Given the description of an element on the screen output the (x, y) to click on. 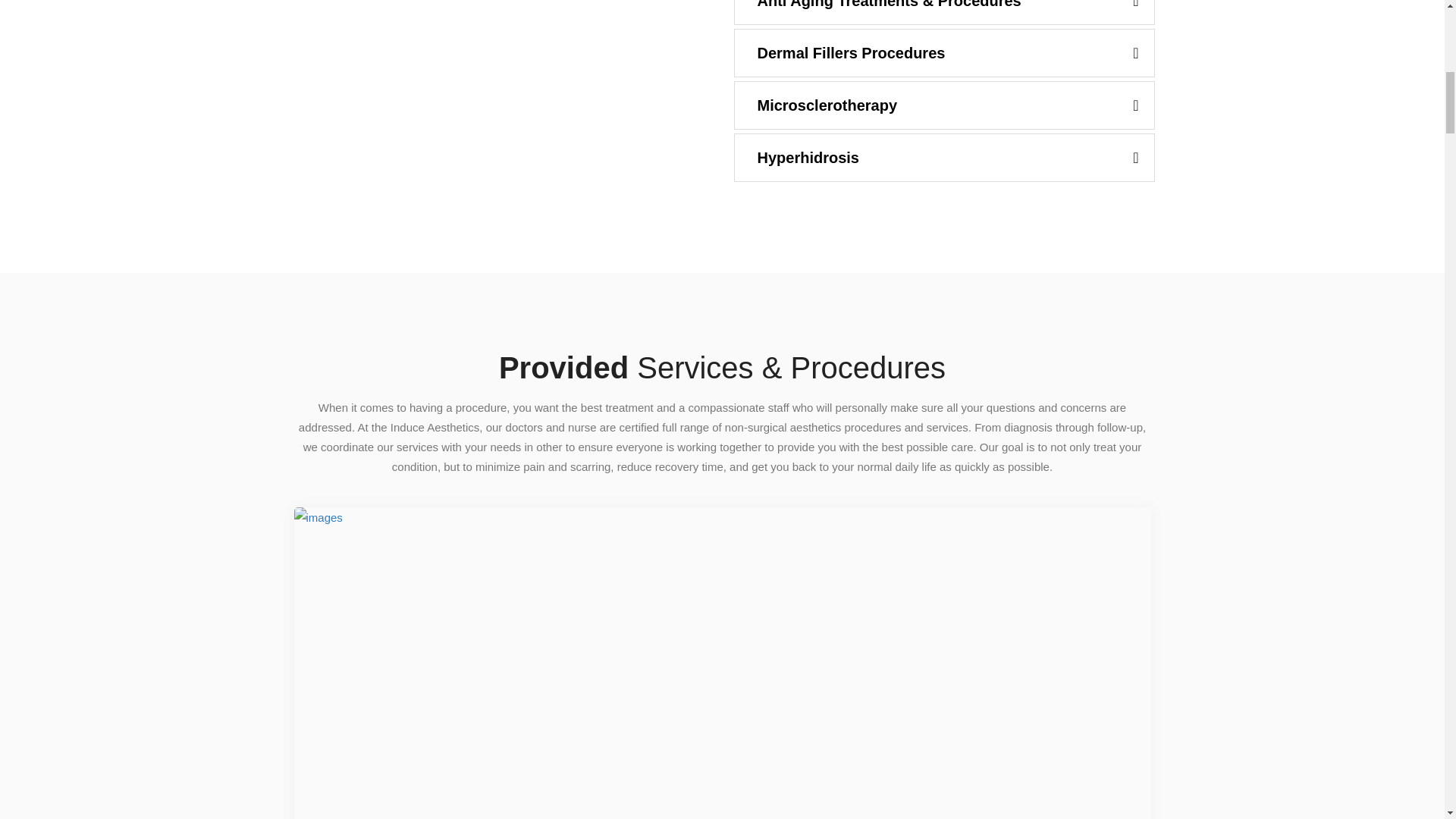
Hyperhidrosis (943, 157)
Dermal Fillers Procedures (943, 52)
Microsclerotherapy (943, 104)
